Given the description of an element on the screen output the (x, y) to click on. 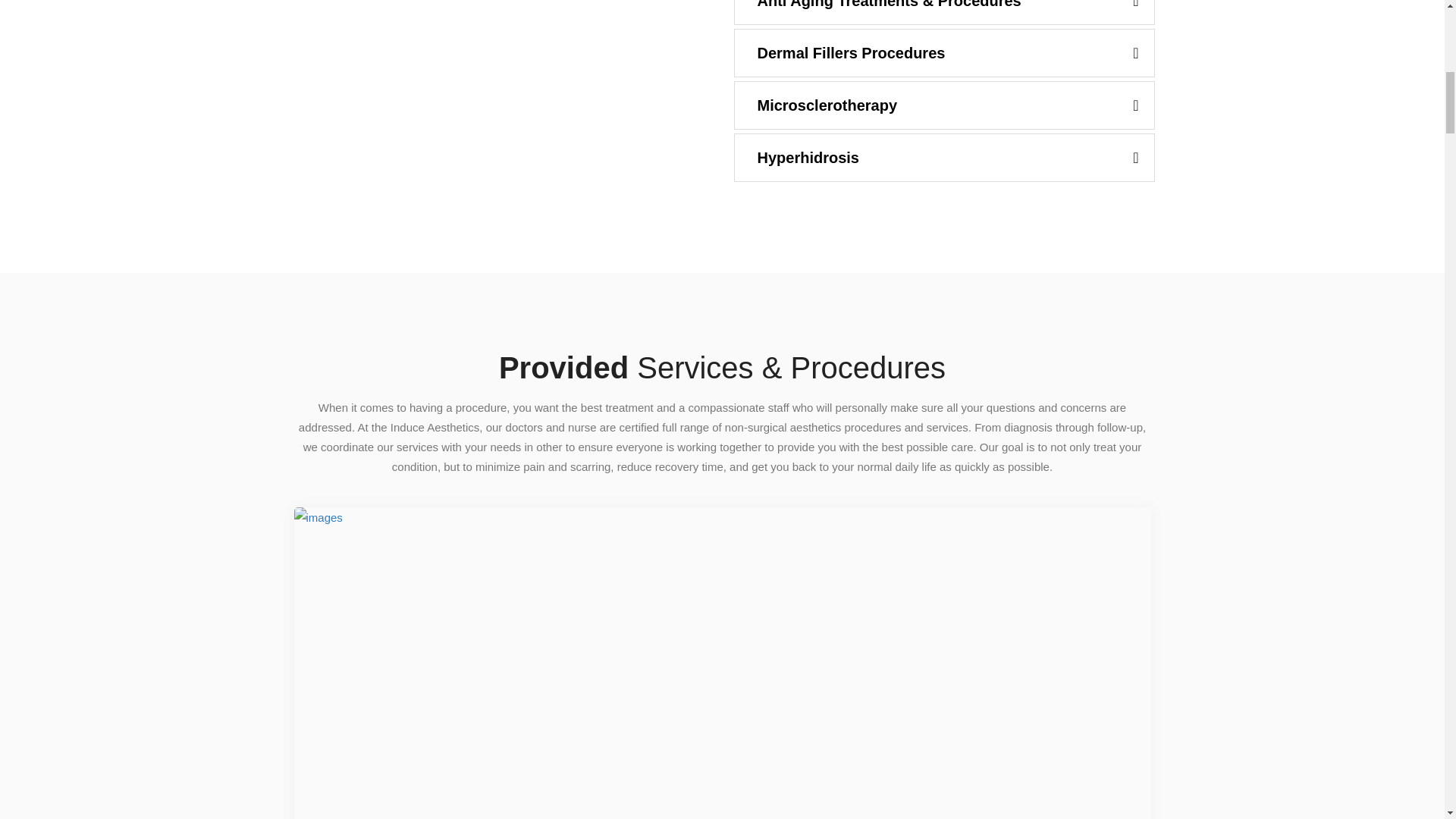
Hyperhidrosis (943, 157)
Dermal Fillers Procedures (943, 52)
Microsclerotherapy (943, 104)
